Given the description of an element on the screen output the (x, y) to click on. 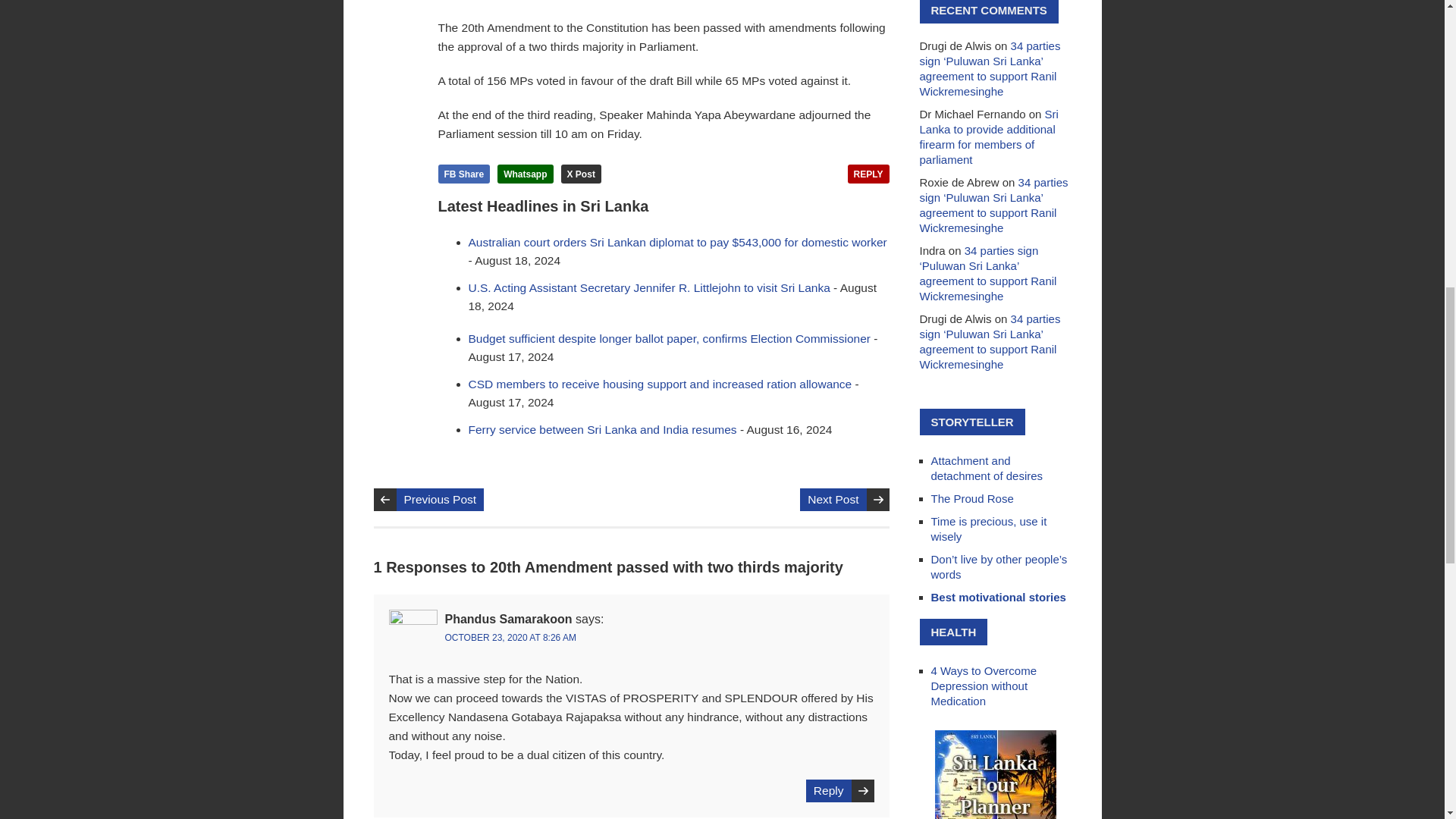
REPLY (868, 173)
Attachment and detachment of desires (987, 468)
Share on Facebook (464, 173)
Write your Comments (868, 173)
Previous Post (439, 499)
Ferry service between Sri Lanka and India resumes (602, 429)
Whatsapp (525, 173)
Next Post (832, 499)
